Given the description of an element on the screen output the (x, y) to click on. 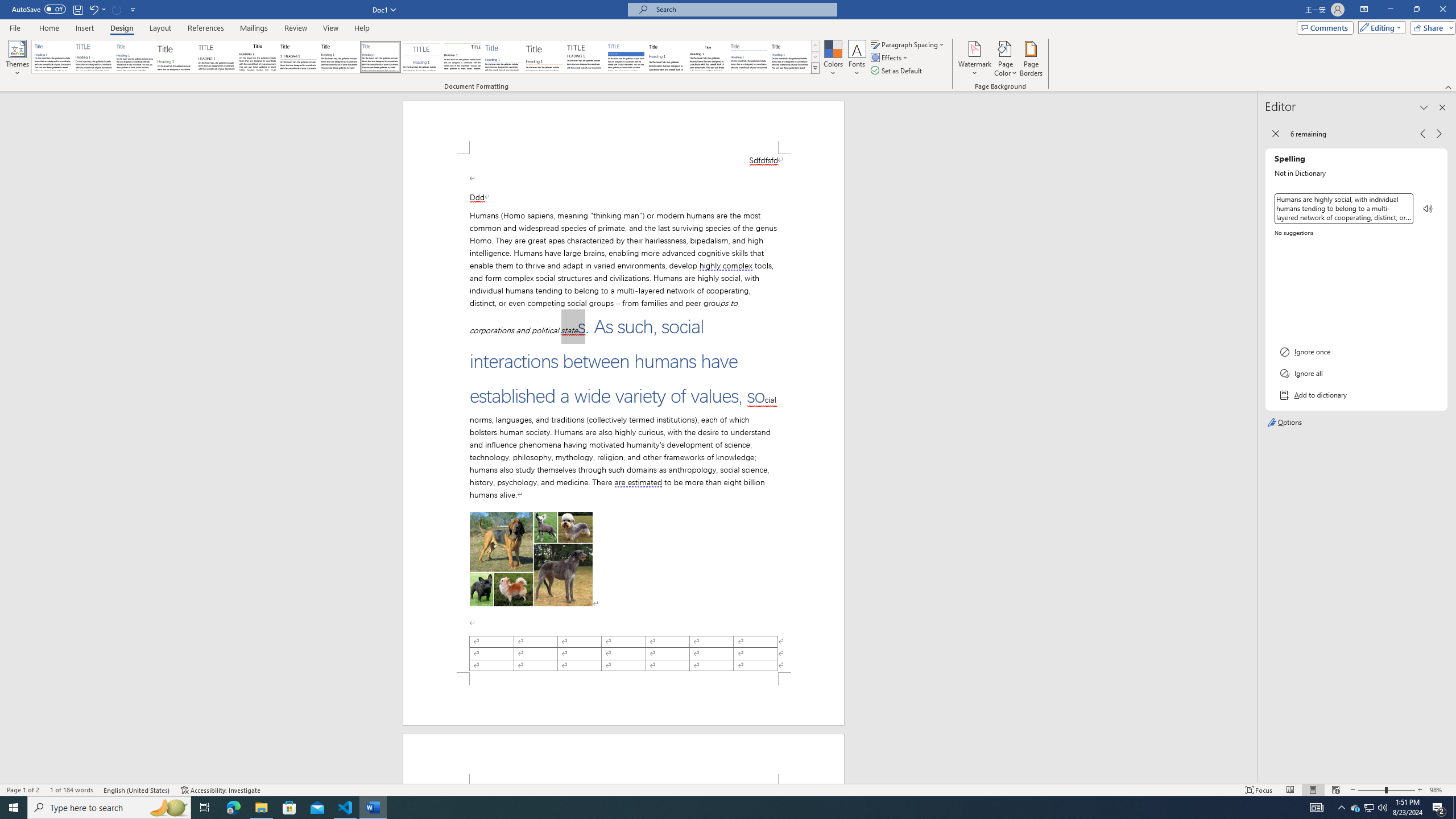
Shaded (625, 56)
